Given the description of an element on the screen output the (x, y) to click on. 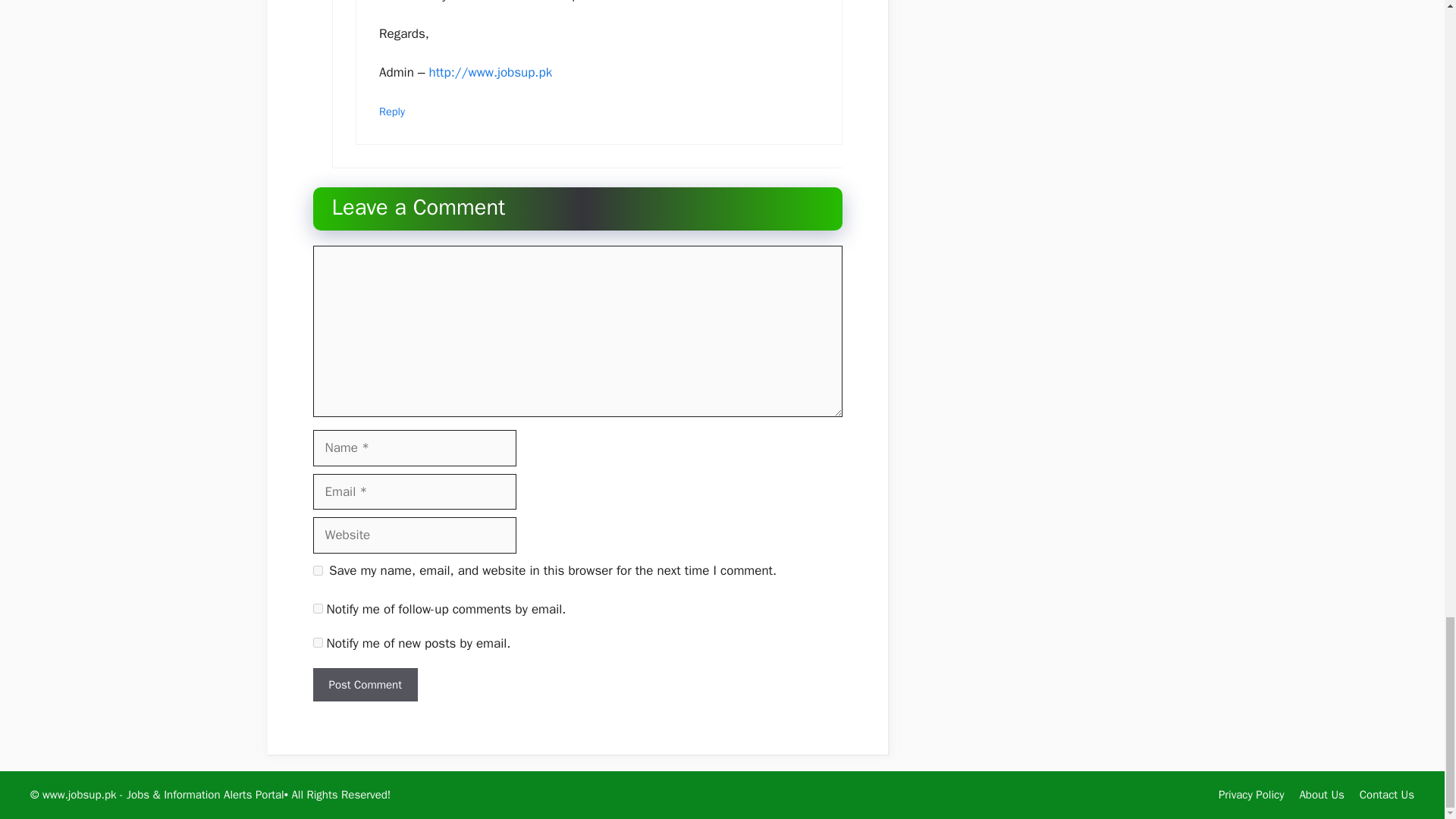
subscribe (317, 608)
yes (317, 570)
subscribe (317, 642)
Post Comment (364, 684)
